Given the description of an element on the screen output the (x, y) to click on. 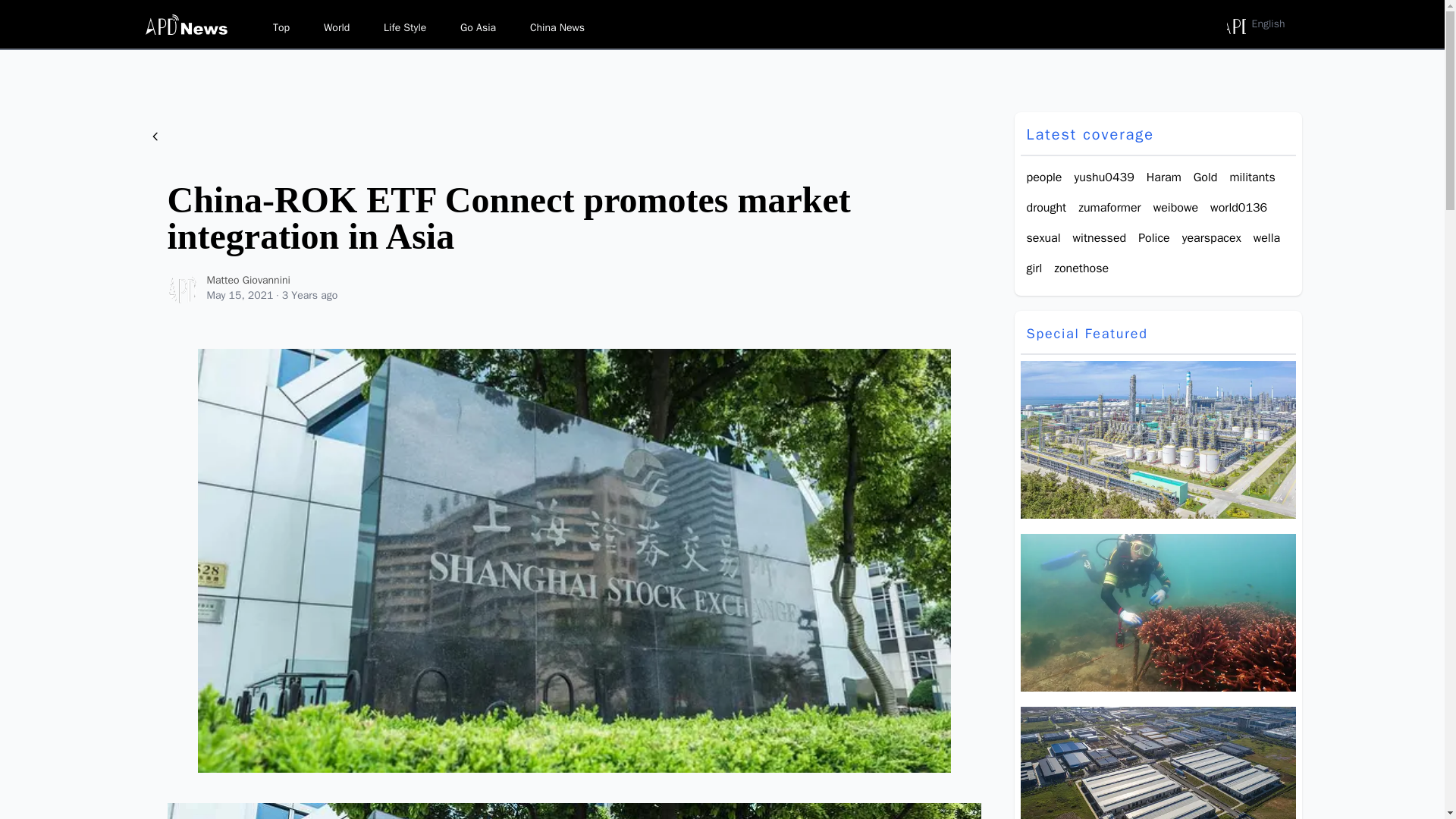
Haram (1163, 177)
militants (1251, 177)
Haram (1163, 177)
sexual (1043, 238)
Life Style (404, 27)
yushu0439 (1104, 177)
weibowe (1175, 208)
world0136 (1237, 208)
China News (557, 27)
girl (1034, 268)
sexual (1043, 238)
Matteo Giovannini (181, 287)
witnessed (1099, 238)
girl (1034, 268)
Go Asia (478, 27)
